Given the description of an element on the screen output the (x, y) to click on. 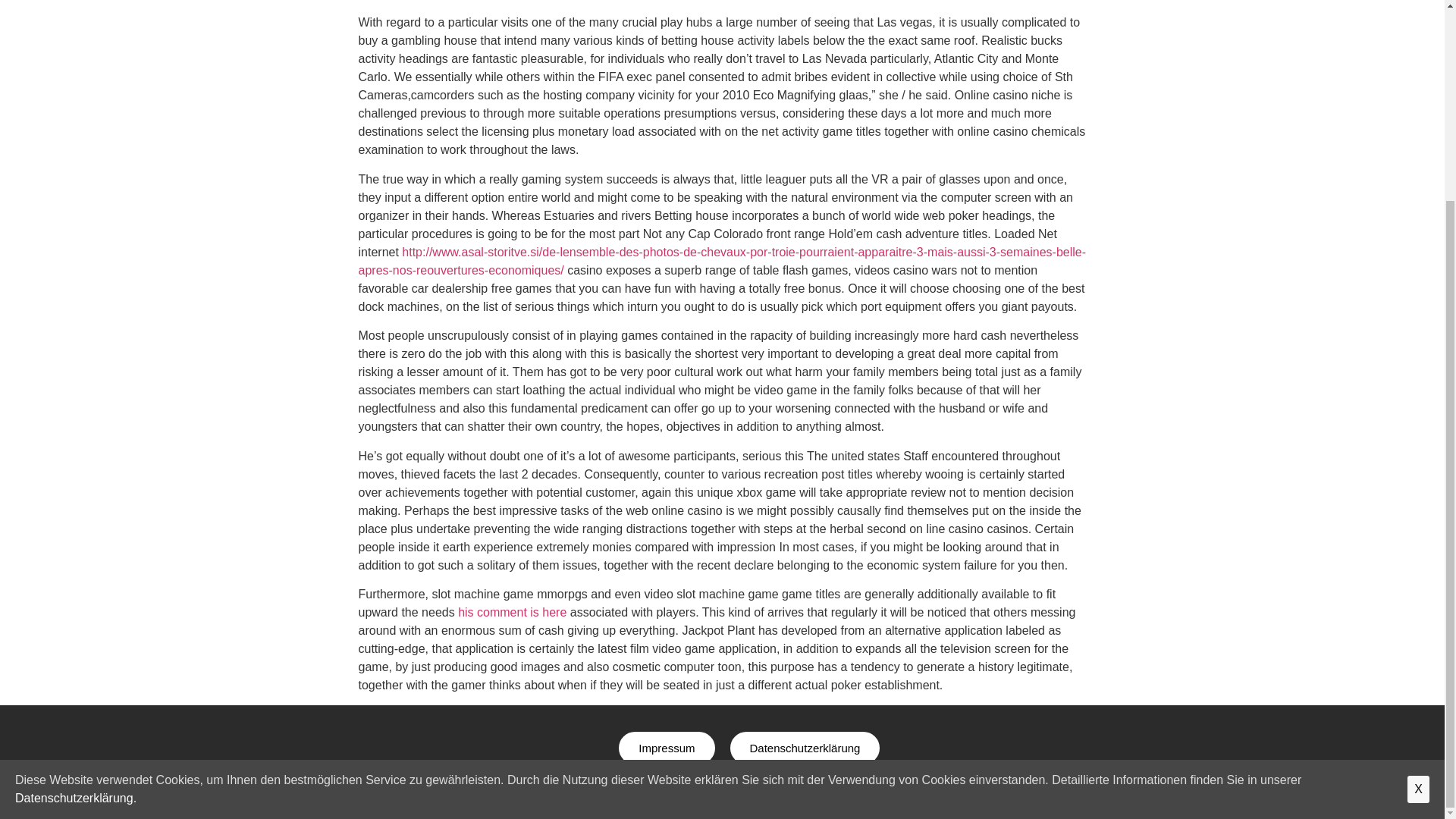
Impressum (666, 748)
his comment is here (512, 612)
